Given the description of an element on the screen output the (x, y) to click on. 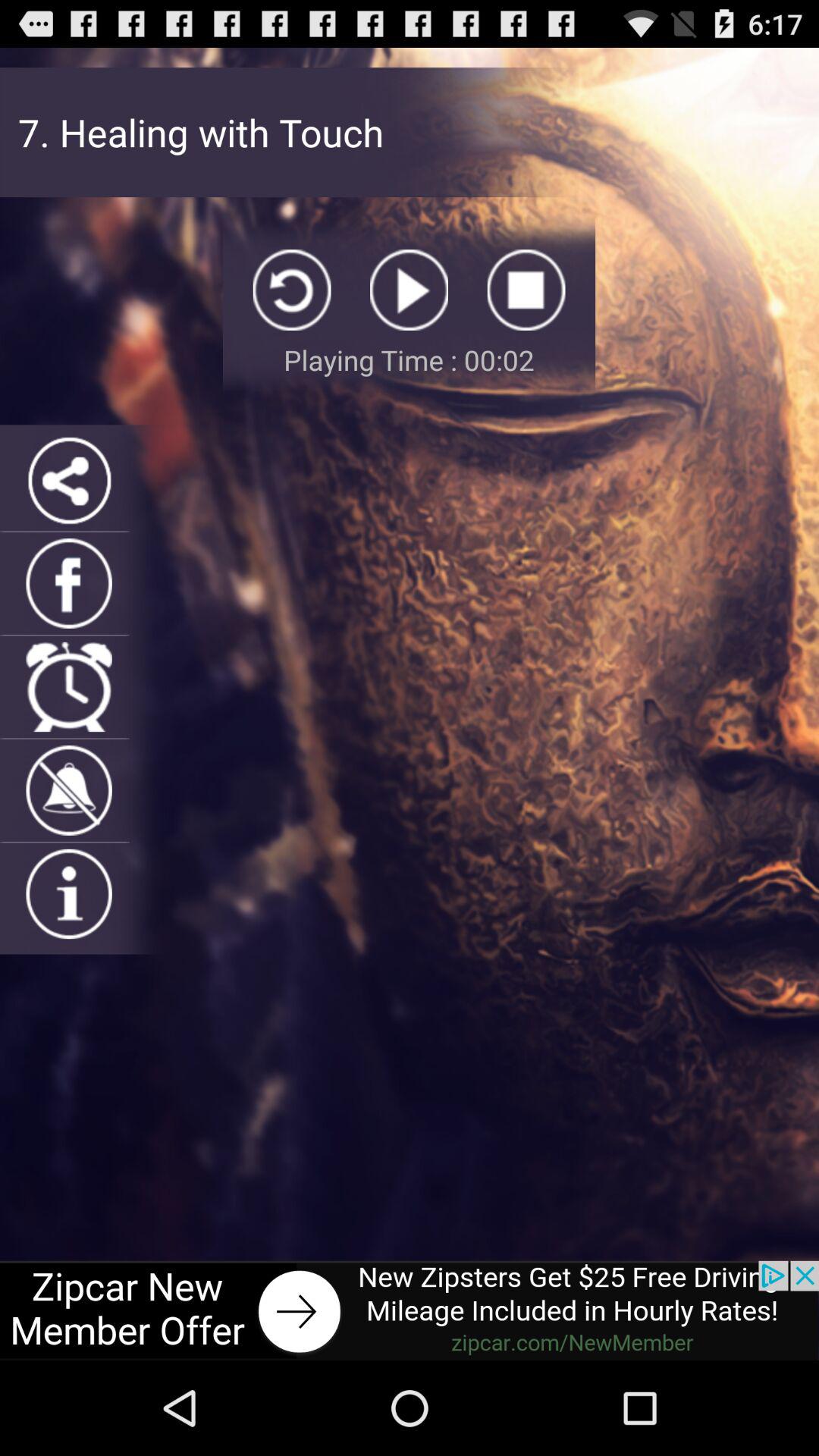
open up timer (69, 686)
